Given the description of an element on the screen output the (x, y) to click on. 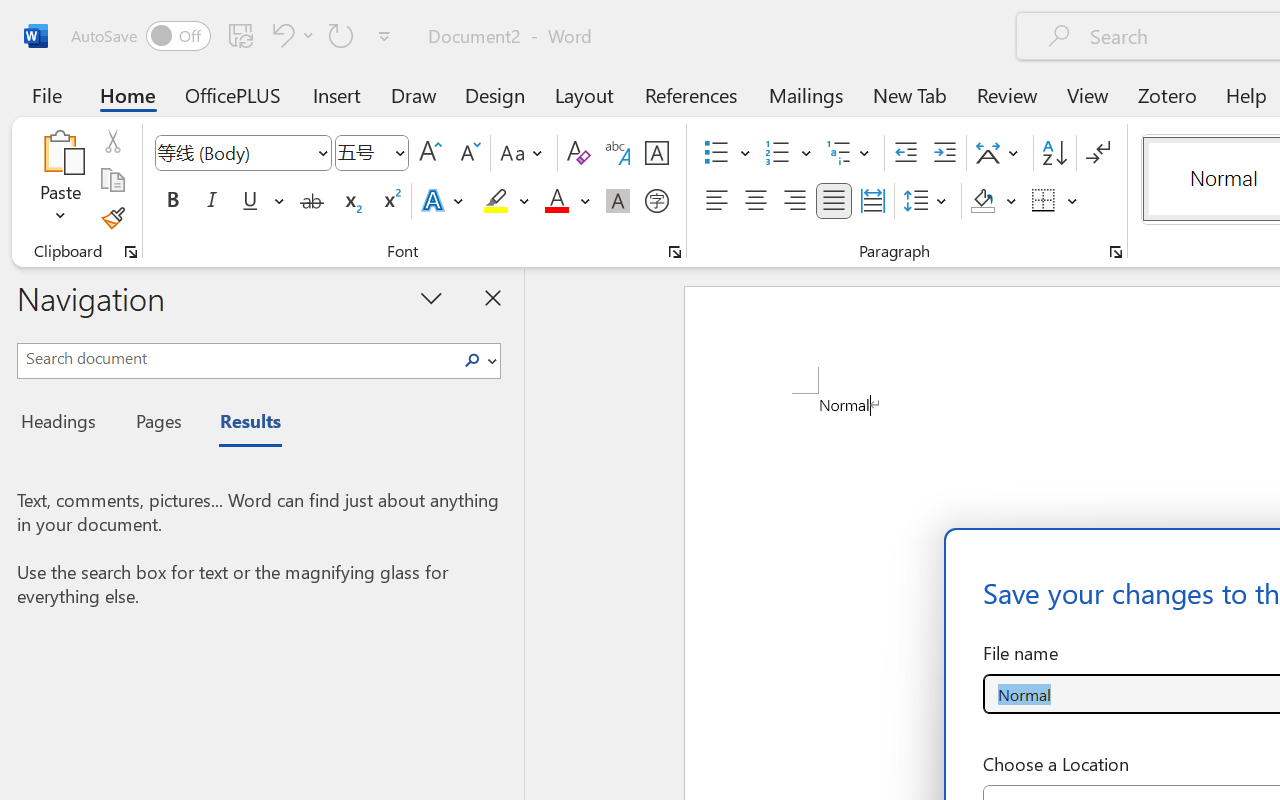
Pages (156, 424)
Phonetic Guide... (618, 153)
Class: NetUIImage (471, 360)
Undo Apply Quick Style (280, 35)
File Tab (46, 94)
Mailings (806, 94)
References (690, 94)
Quick Access Toolbar (233, 36)
Paste (60, 151)
Increase Indent (944, 153)
Superscript (390, 201)
Grow Font (430, 153)
Justify (834, 201)
Change Case (524, 153)
